Given the description of an element on the screen output the (x, y) to click on. 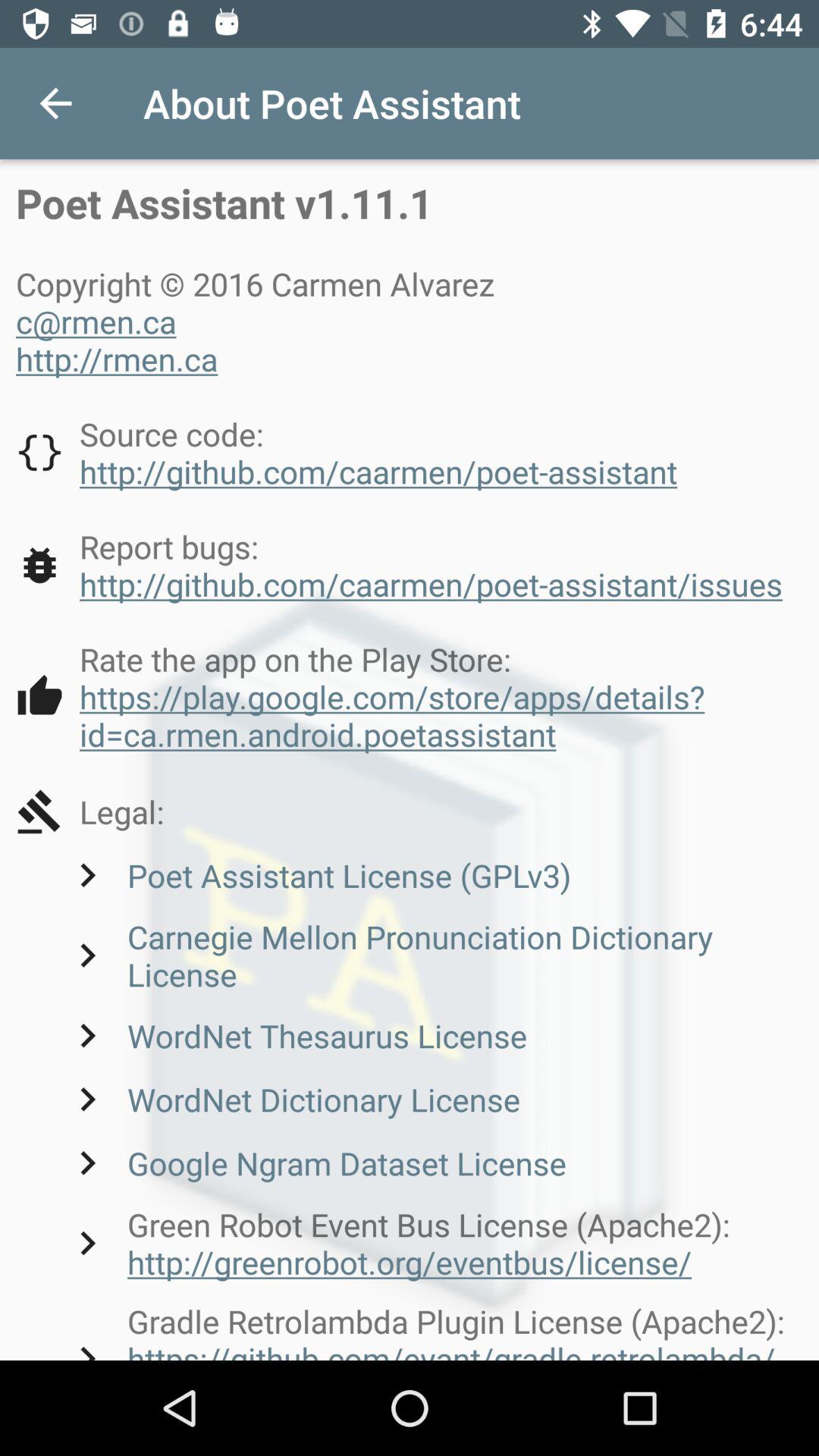
jump until the google ngram dataset item (314, 1162)
